Given the description of an element on the screen output the (x, y) to click on. 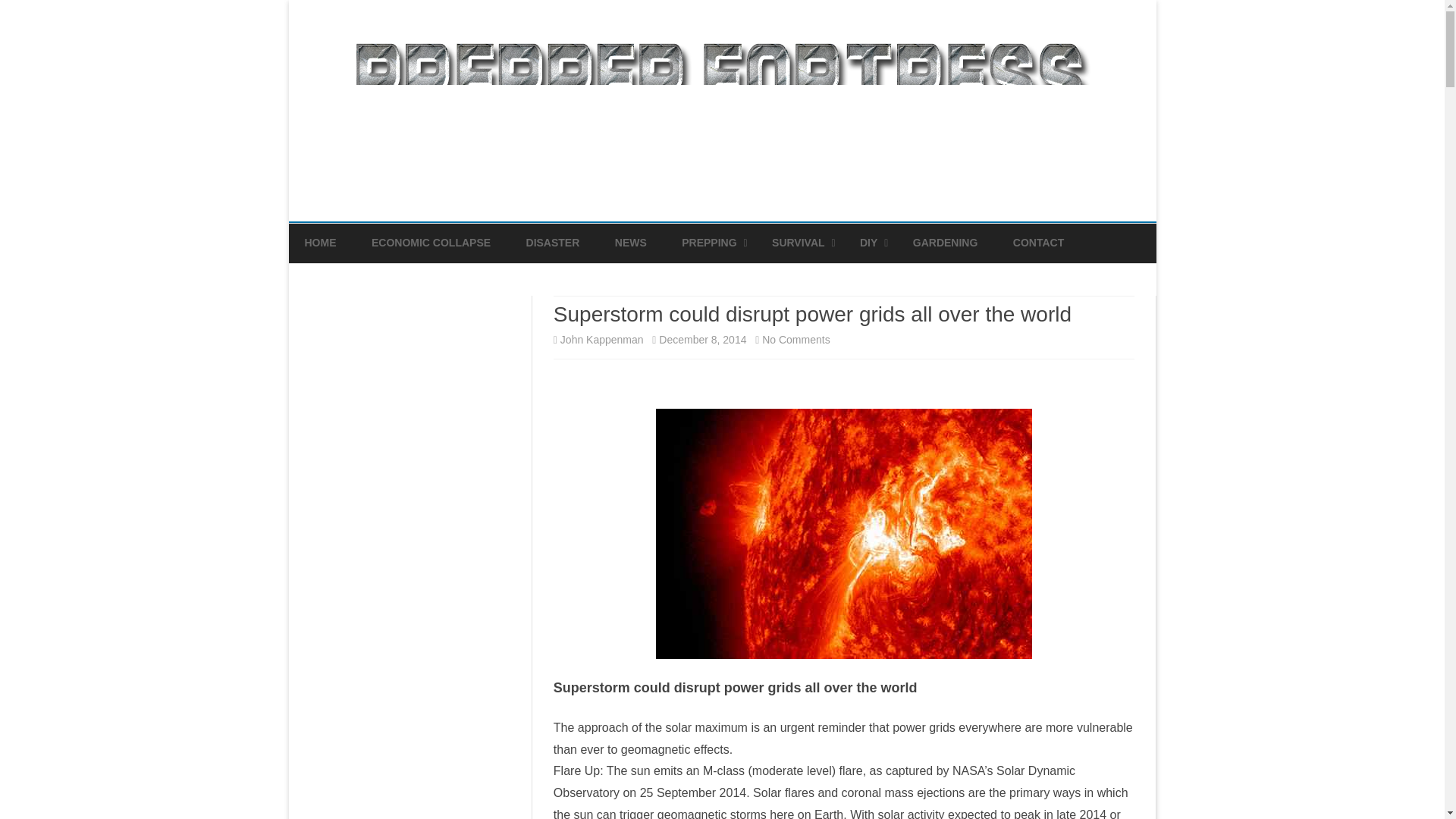
PREPPER (756, 278)
PREPPING (708, 242)
SURVIVE (847, 278)
SURVIVAL (798, 242)
YOU SHOULD KNOW (935, 278)
DISASTER (552, 242)
ECONOMIC COLLAPSE (430, 242)
